Given the description of an element on the screen output the (x, y) to click on. 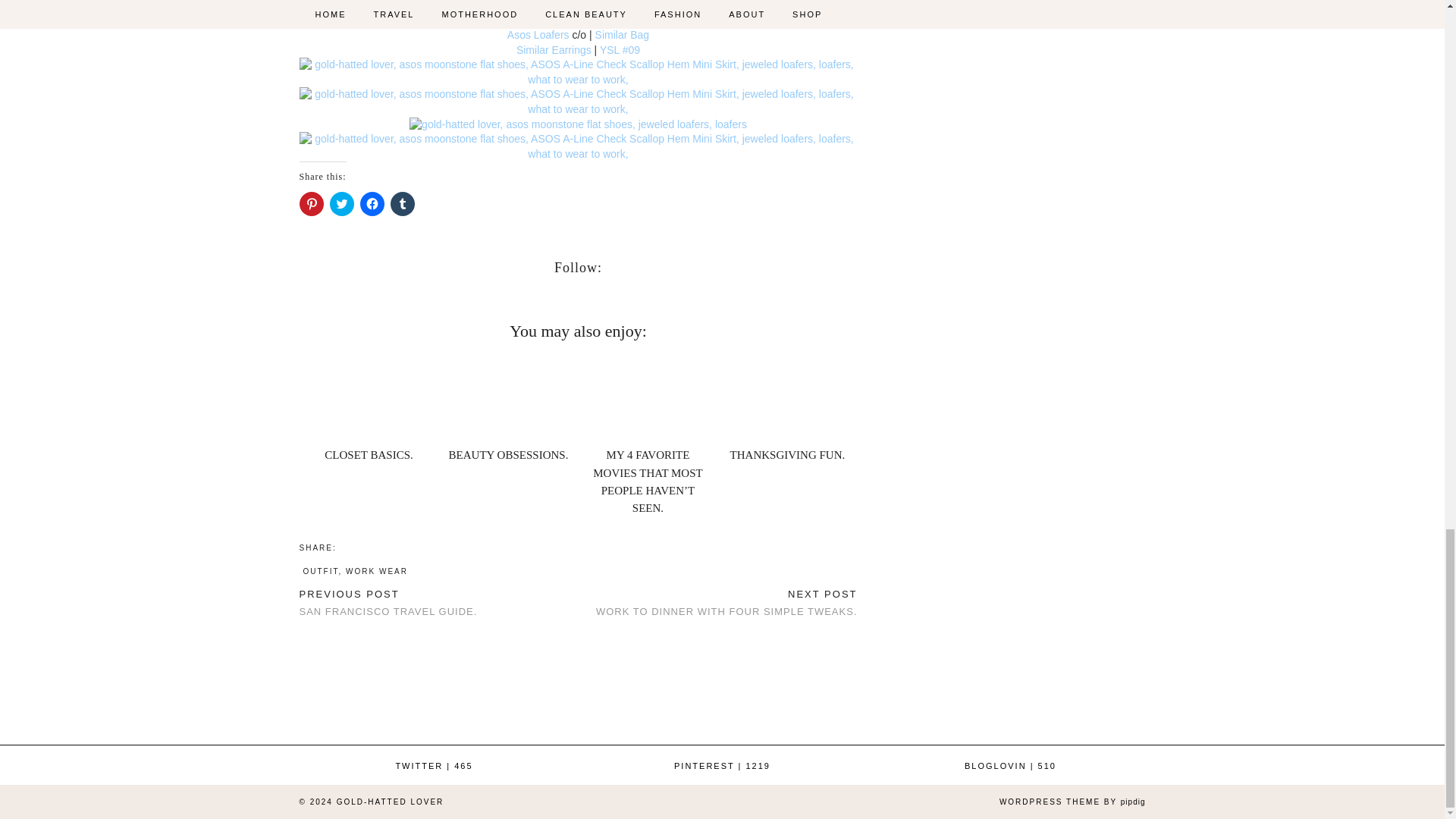
Jeweled Loafers (577, 124)
Five Tips to Looking Stylish in the Workplace (577, 101)
Black and White Never Fails (577, 71)
